Given the description of an element on the screen output the (x, y) to click on. 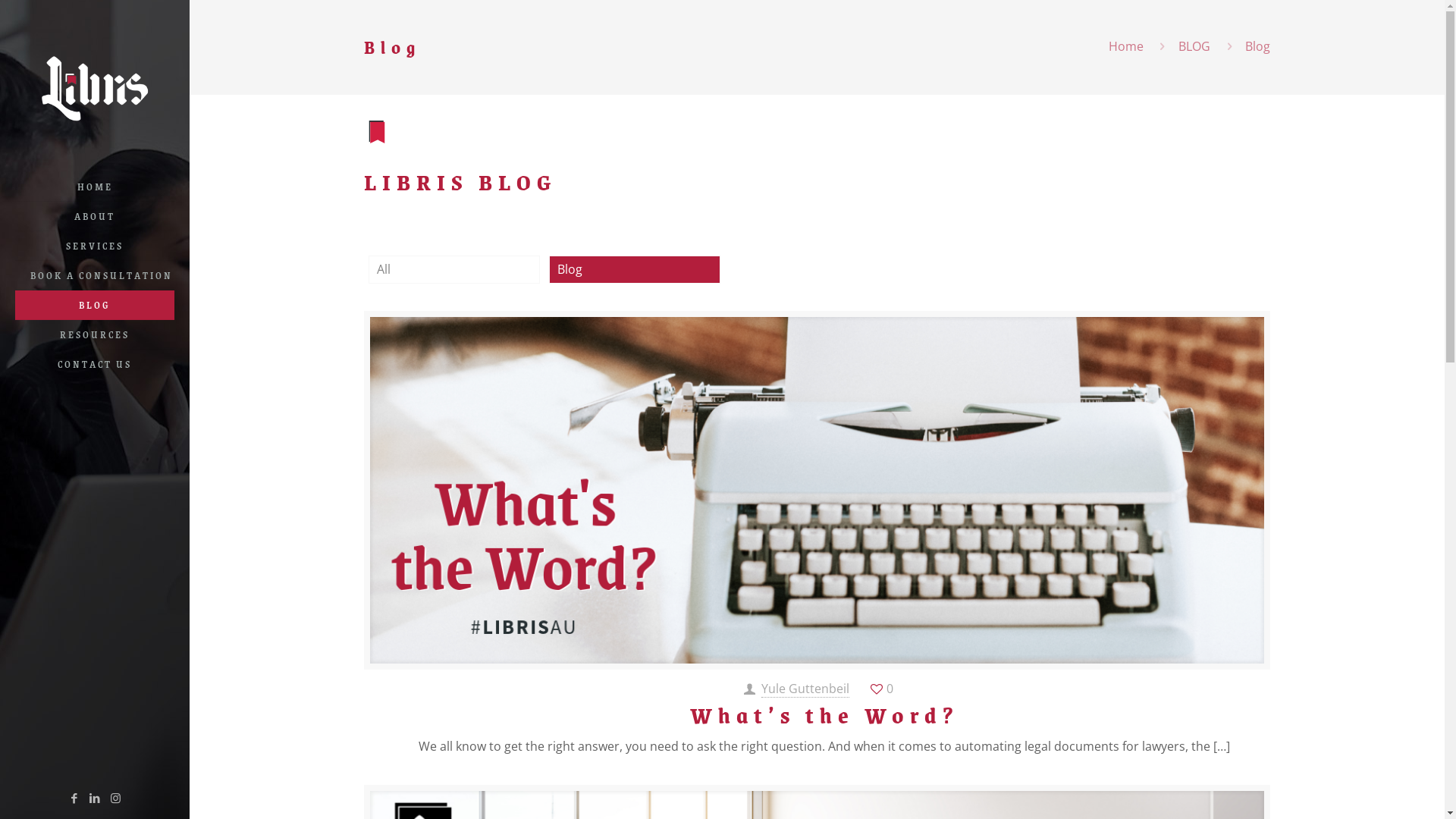
BLOG Element type: text (94, 305)
RESOURCES Element type: text (94, 334)
BLOG Element type: text (1194, 45)
Facebook Element type: hover (74, 797)
Instagram Element type: hover (115, 797)
BOOK A CONSULTATION Element type: text (94, 275)
CONTACT US Element type: text (94, 363)
Yule Guttenbeil Element type: text (805, 688)
Libris Element type: hover (94, 85)
Home Element type: text (1125, 45)
All Element type: text (453, 269)
SERVICES Element type: text (94, 245)
ABOUT Element type: text (94, 216)
Libris-icon-sml Element type: hover (376, 131)
Blog Element type: text (634, 269)
LinkedIn Element type: hover (94, 797)
0 Element type: text (880, 688)
HOME Element type: text (94, 186)
